Given the description of an element on the screen output the (x, y) to click on. 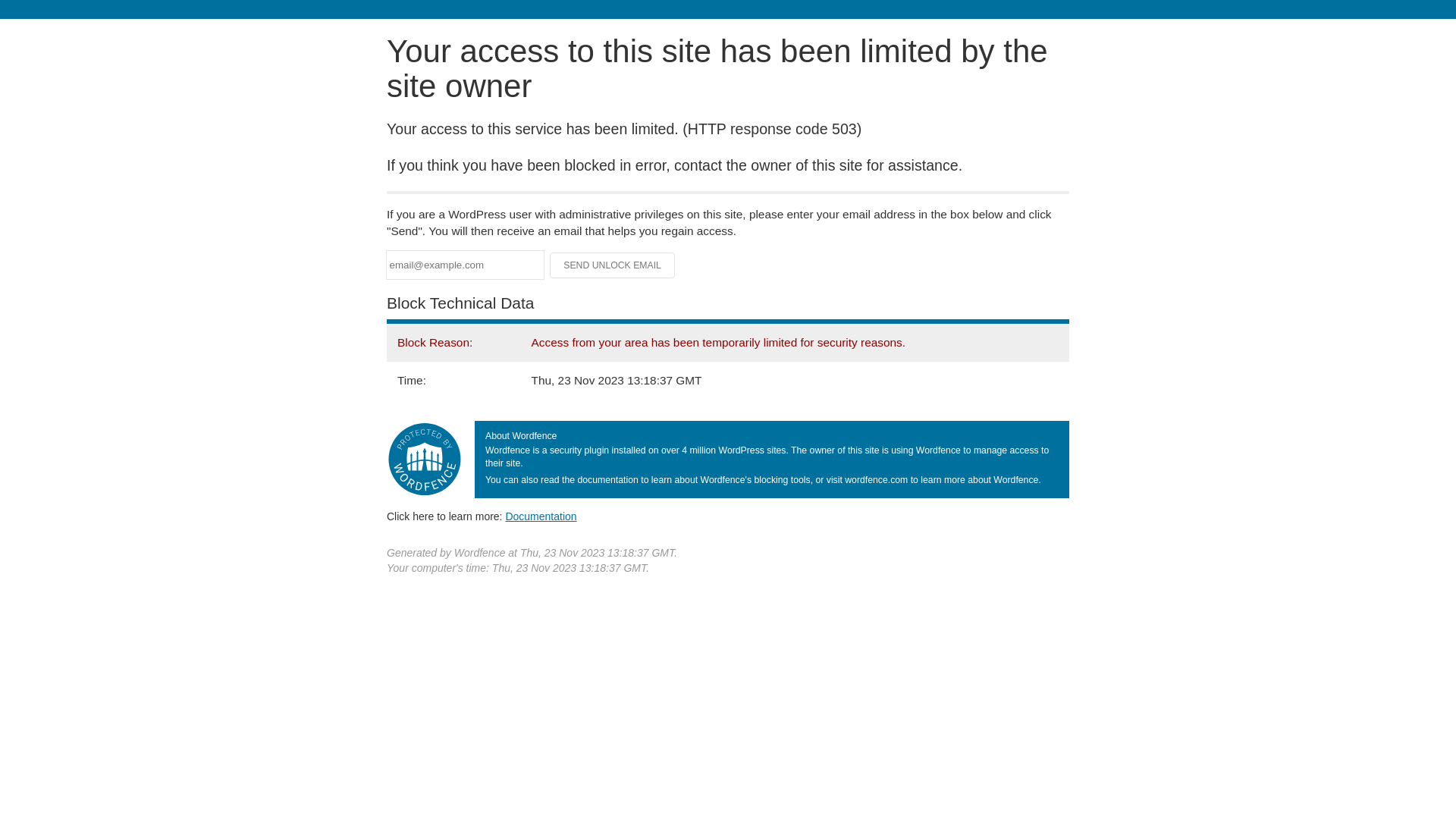
Documentation Element type: text (540, 516)
Send Unlock Email Element type: text (612, 265)
